Given the description of an element on the screen output the (x, y) to click on. 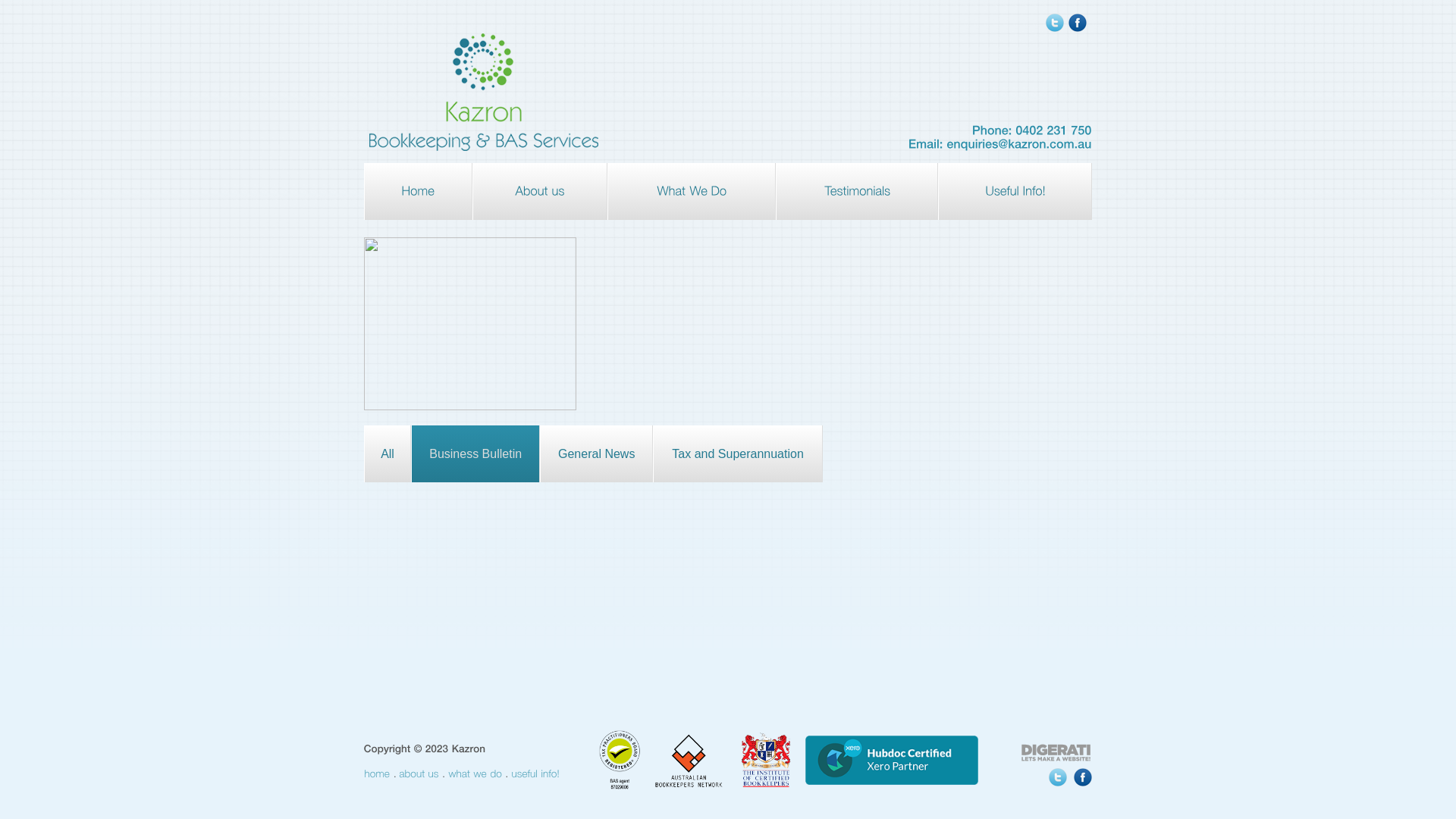
General News Element type: text (595, 453)
All Element type: text (387, 453)
Tax and Superannuation Element type: text (737, 453)
Sutherland Shire Web Design Element type: hover (1055, 755)
Business Bulletin Element type: text (475, 453)
